Given the description of an element on the screen output the (x, y) to click on. 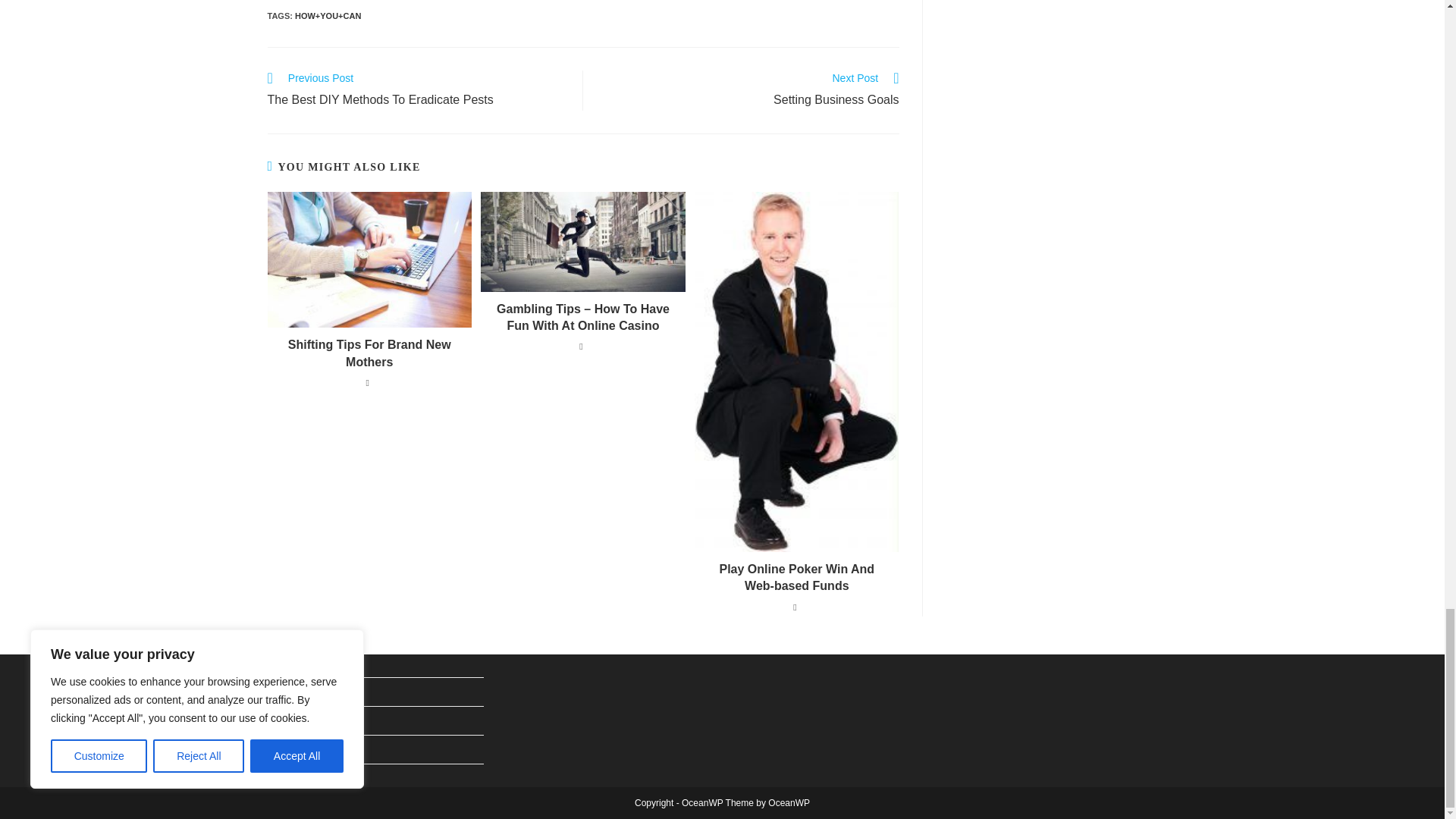
Shifting Tips For Brand New Mothers (748, 90)
